Given the description of an element on the screen output the (x, y) to click on. 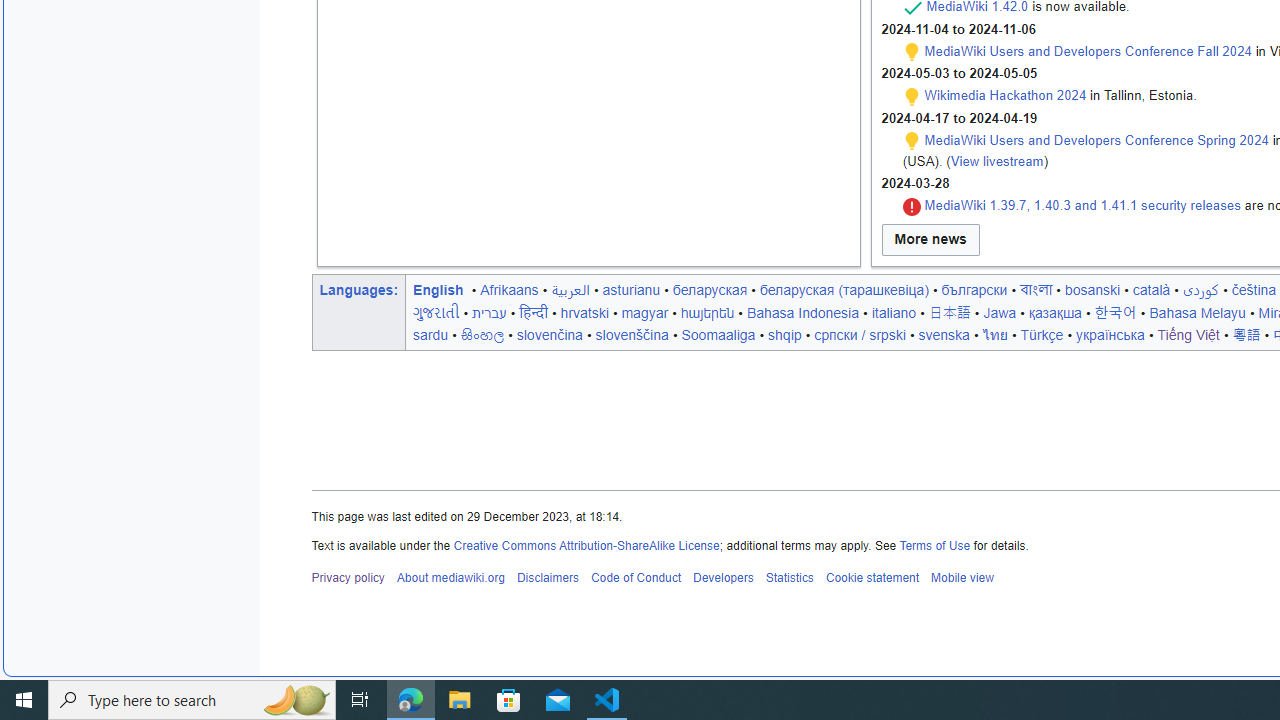
Creative Commons Attribution-ShareAlike License (586, 544)
MediaWiki 1.39.7, 1.40.3 and 1.41.1 security releases (1082, 205)
Statistics (789, 578)
Maintenance update (911, 141)
Disclaimers (546, 578)
Privacy policy (348, 578)
magyar (644, 312)
italiano (893, 312)
hrvatski (584, 312)
MediaWiki Users and Developers Conference Spring 2024 (1096, 139)
Code of Conduct (635, 578)
